Given the description of an element on the screen output the (x, y) to click on. 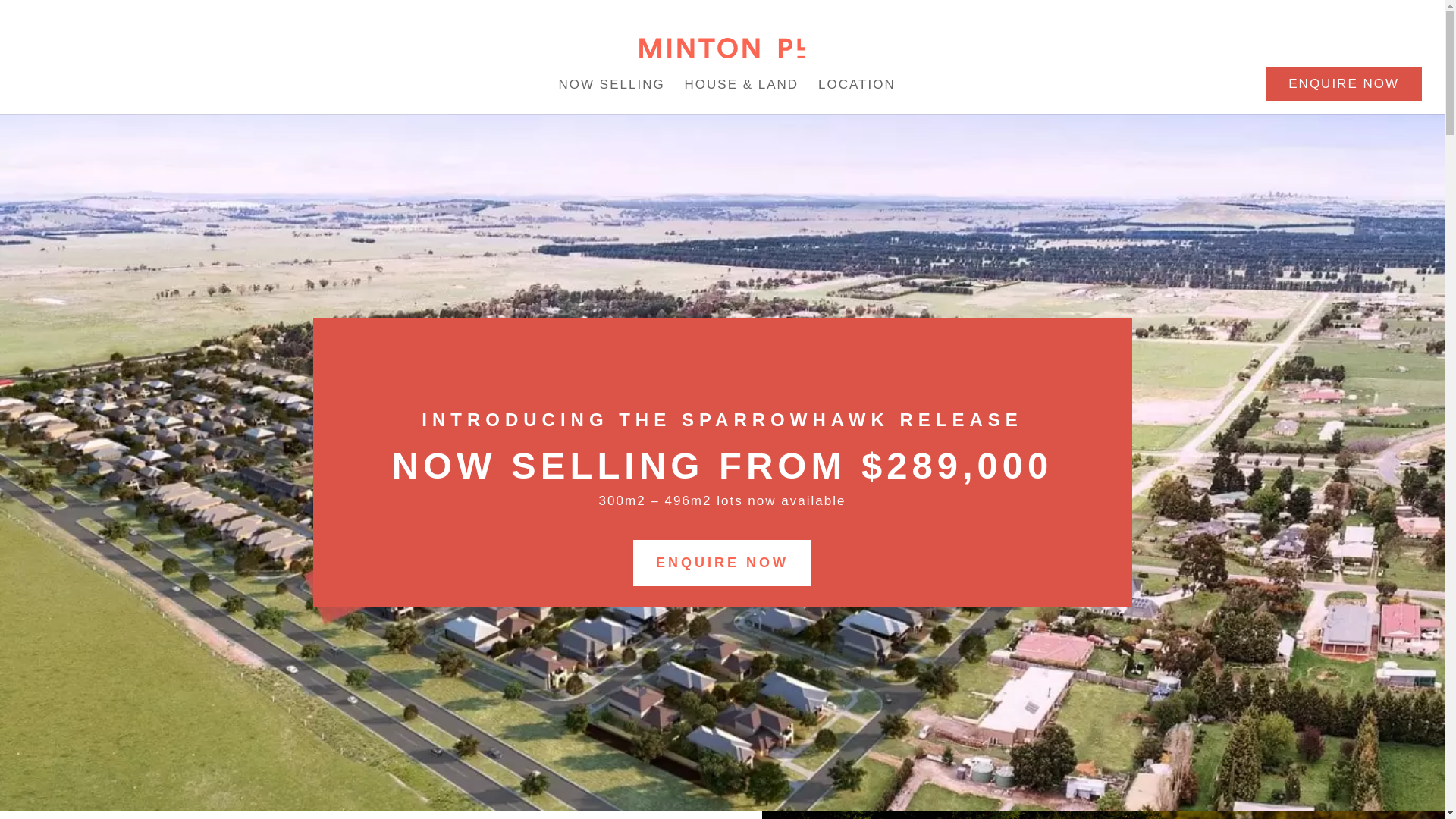
ENQUIRE NOW Element type: text (722, 562)
NOW SELLING Element type: text (611, 87)
HOUSE & LAND Element type: text (741, 87)
LOCATION Element type: text (856, 87)
ENQUIRE NOW Element type: text (1343, 84)
